Given the description of an element on the screen output the (x, y) to click on. 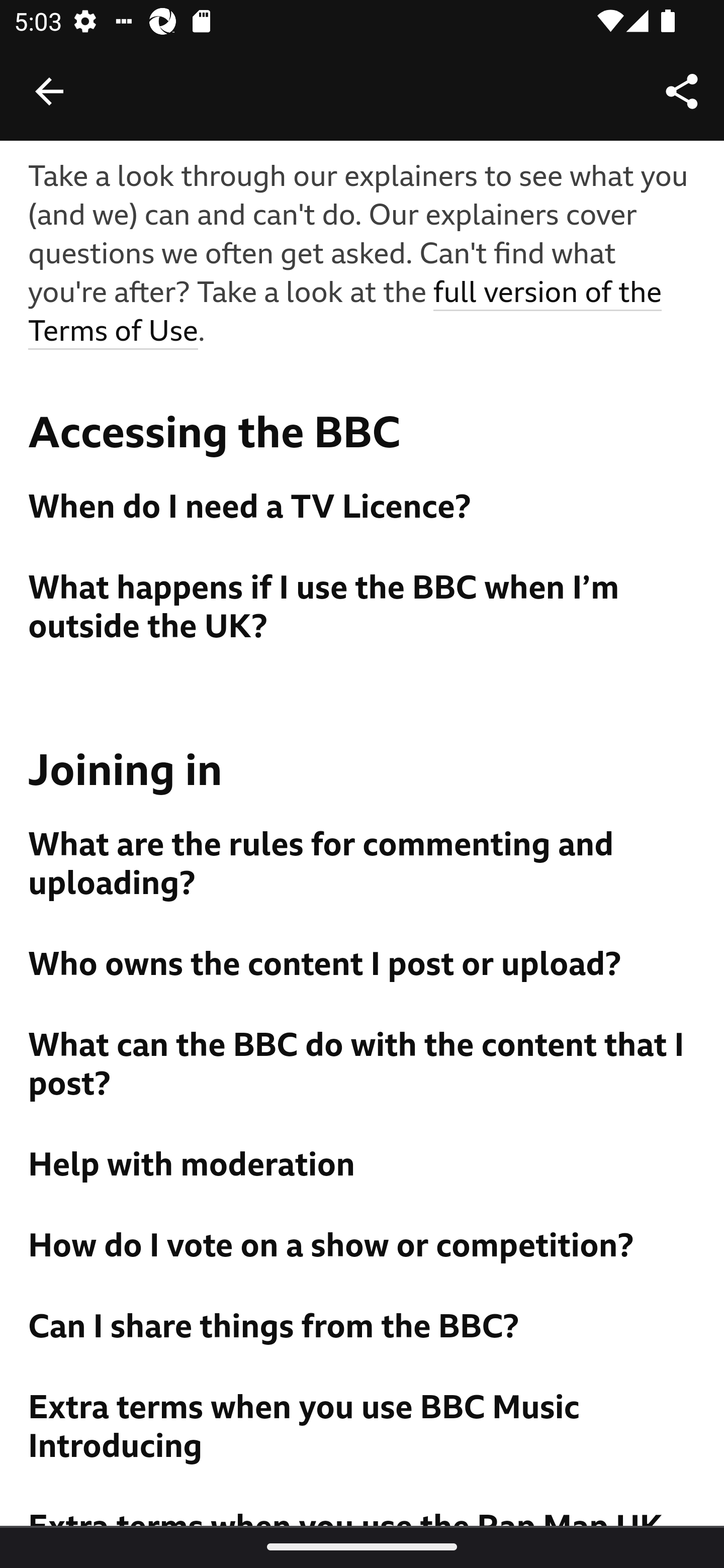
Back (49, 91)
Share (681, 90)
full version of the Terms of Use (345, 314)
When do I need a TV Licence? (363, 509)
What are the rules for commenting and uploading? (363, 866)
Who owns the content I post or upload? (363, 966)
What can the BBC do with the content that I post? (363, 1066)
Help with moderation (363, 1166)
How do I vote on a show or competition? (363, 1247)
Can I share things from the BBC? (363, 1328)
Extra terms when you use BBC Music Introducing (363, 1429)
